Given the description of an element on the screen output the (x, y) to click on. 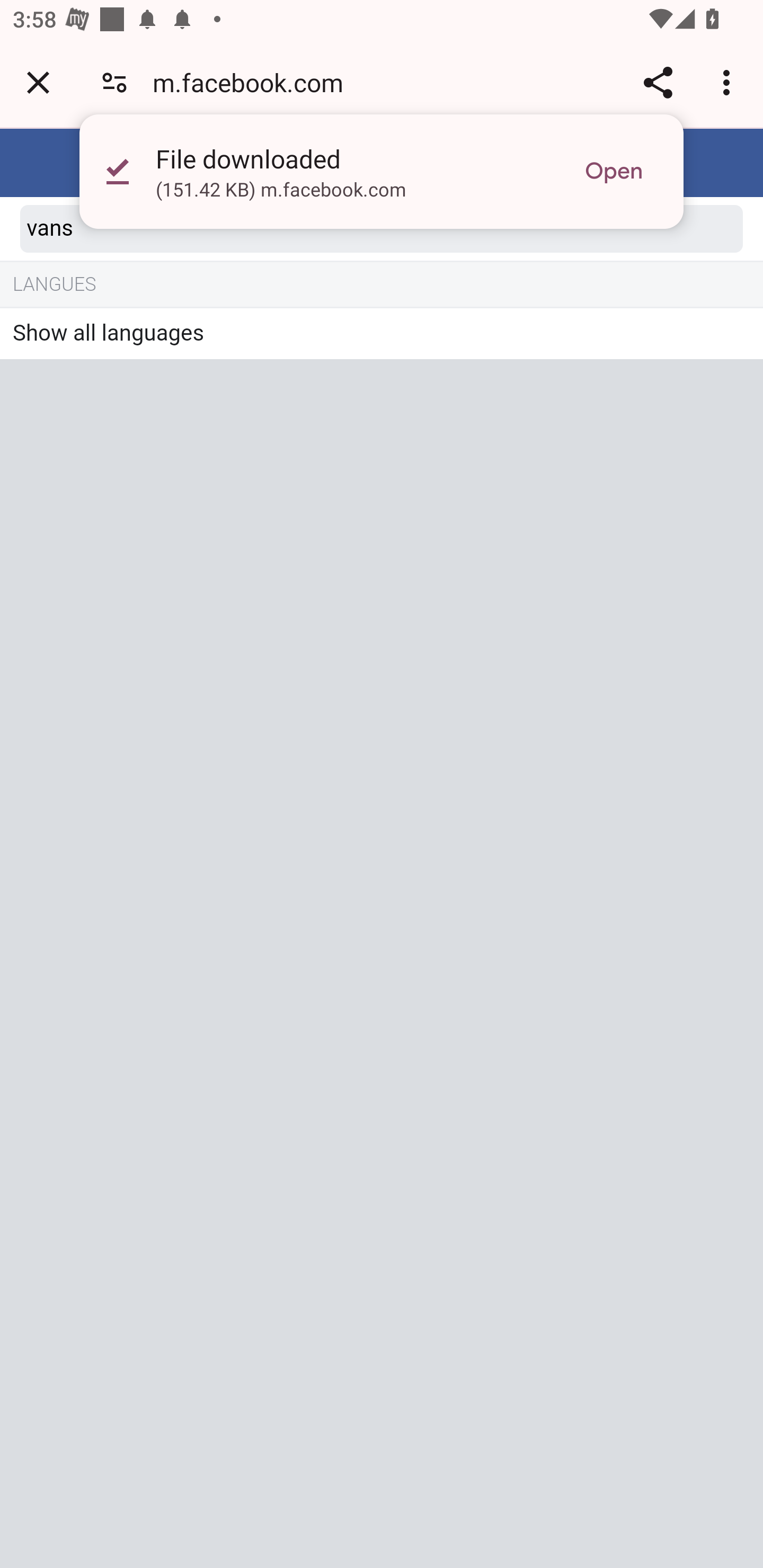
Close tab (38, 82)
Share (657, 82)
Customize and control Google Chrome (729, 82)
Connection is secure (114, 81)
m.facebook.com (254, 81)
Open (613, 171)
vans (381, 228)
